Given the description of an element on the screen output the (x, y) to click on. 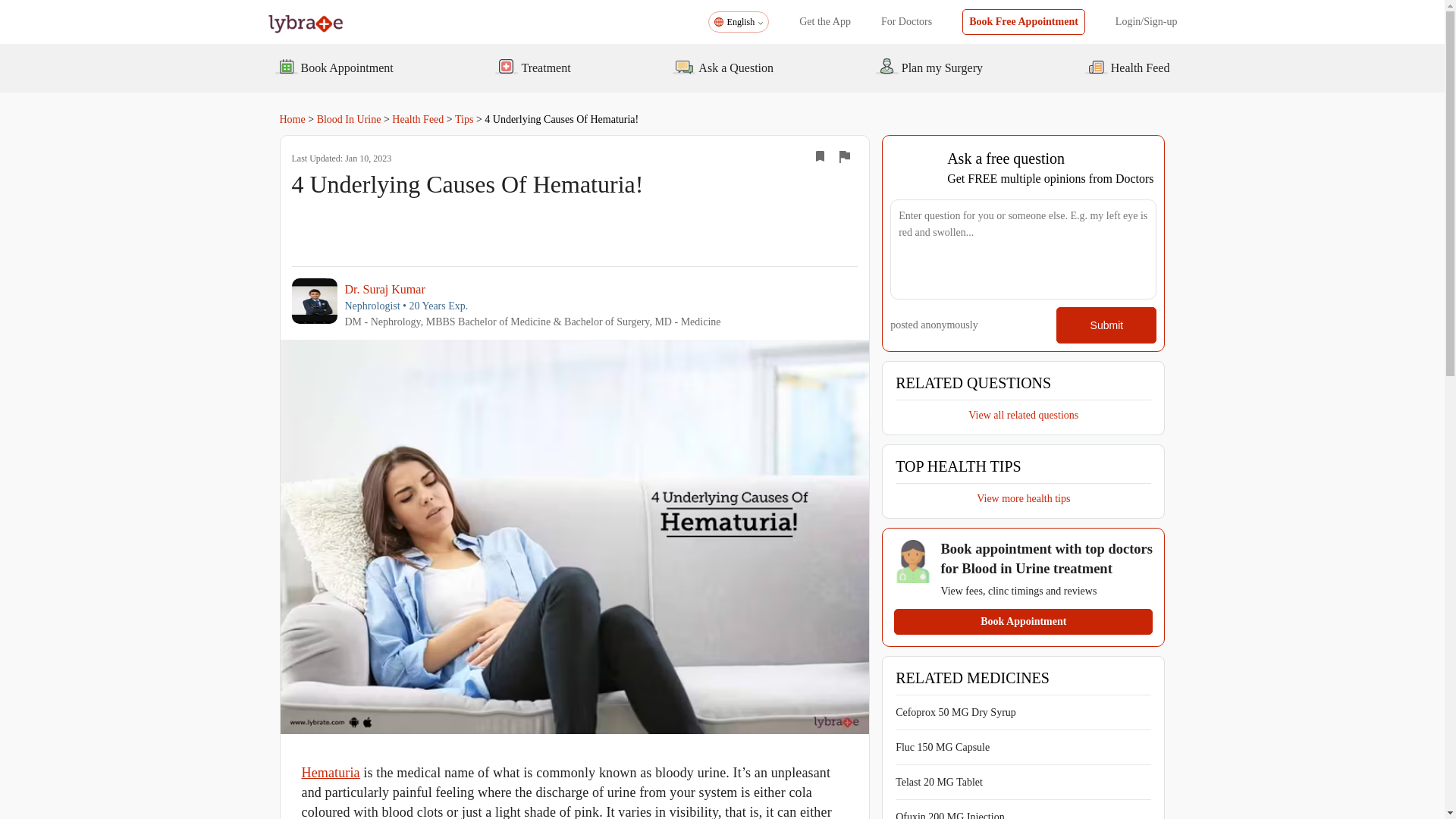
Fluc 150 MG Capsule (942, 747)
Blood In Urine (349, 119)
Ask a Question (722, 67)
Book Appointment (1023, 621)
Hematuria (330, 772)
Plan my Surgery (928, 67)
Ofuxin 200 MG Injection (949, 815)
Tips (463, 119)
Home (291, 119)
Book Free Appointment (1023, 22)
